Given the description of an element on the screen output the (x, y) to click on. 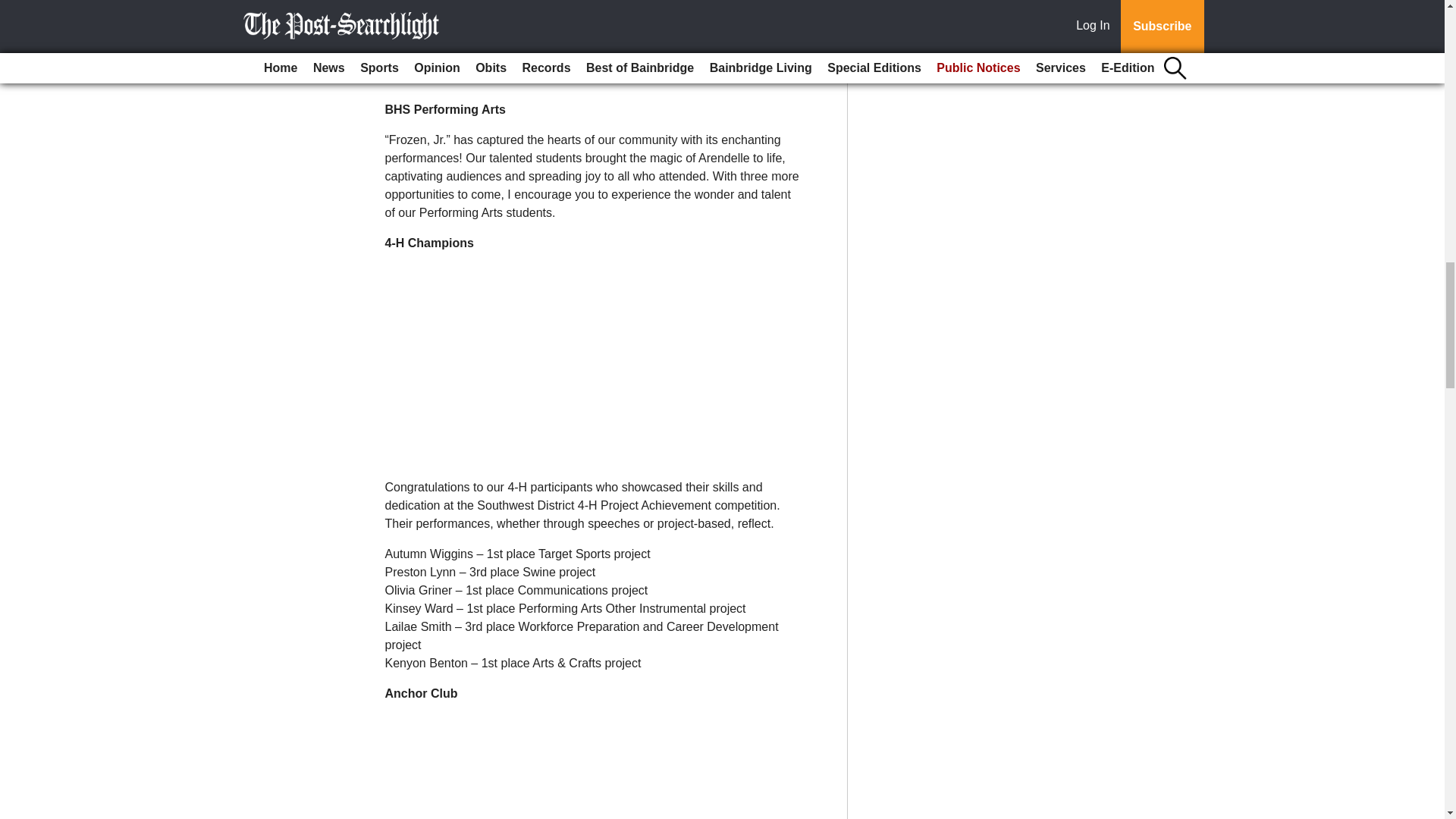
Subscribe (434, 59)
Subscribe (434, 59)
